Given the description of an element on the screen output the (x, y) to click on. 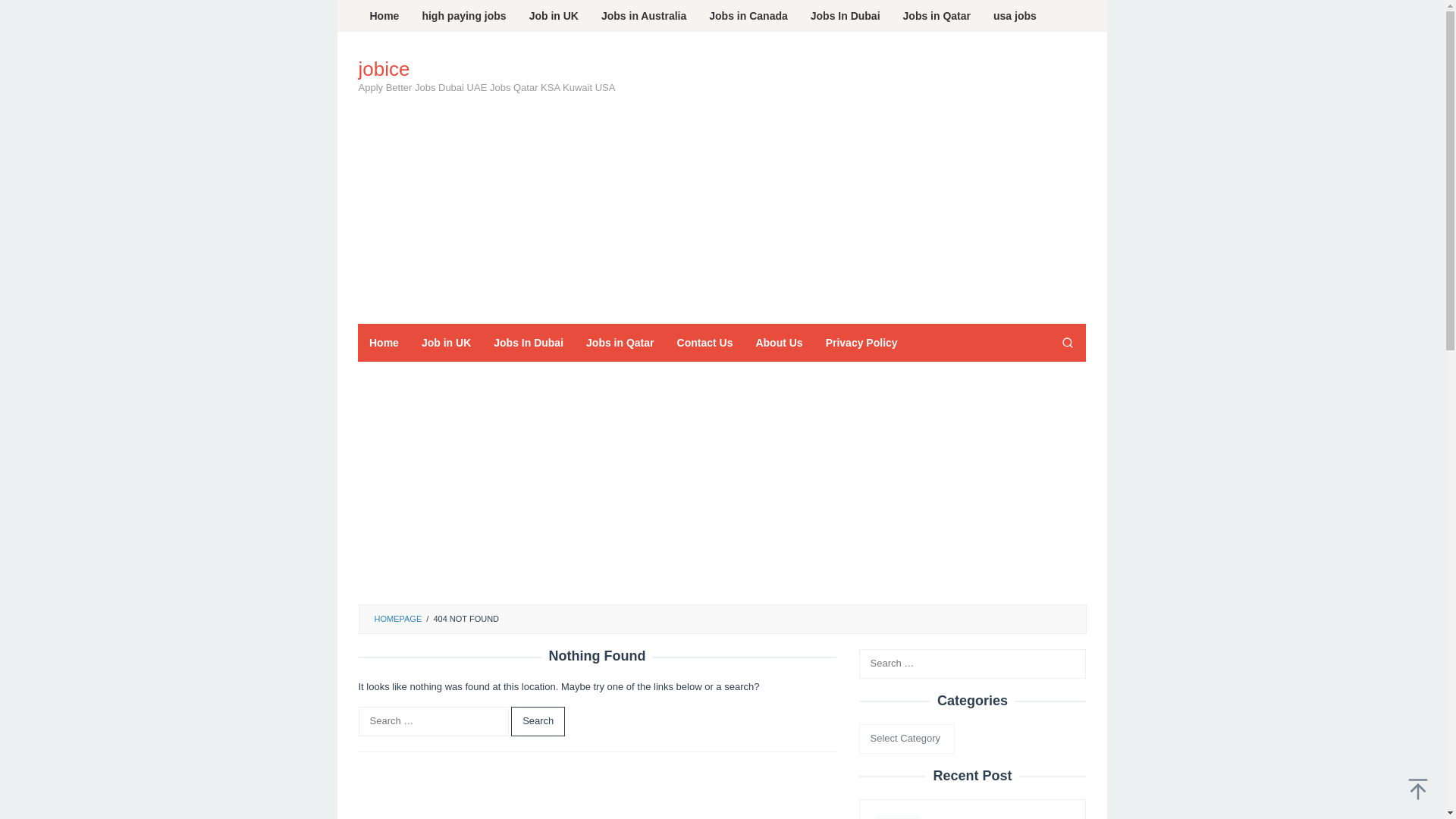
Jobs in Canada (747, 15)
Search (26, 14)
Jobs in Australia (643, 15)
jobice (383, 68)
Advertisement (809, 202)
Home (384, 342)
Search (537, 721)
Jobs In Dubai (529, 342)
HOMEPAGE (398, 618)
